Given the description of an element on the screen output the (x, y) to click on. 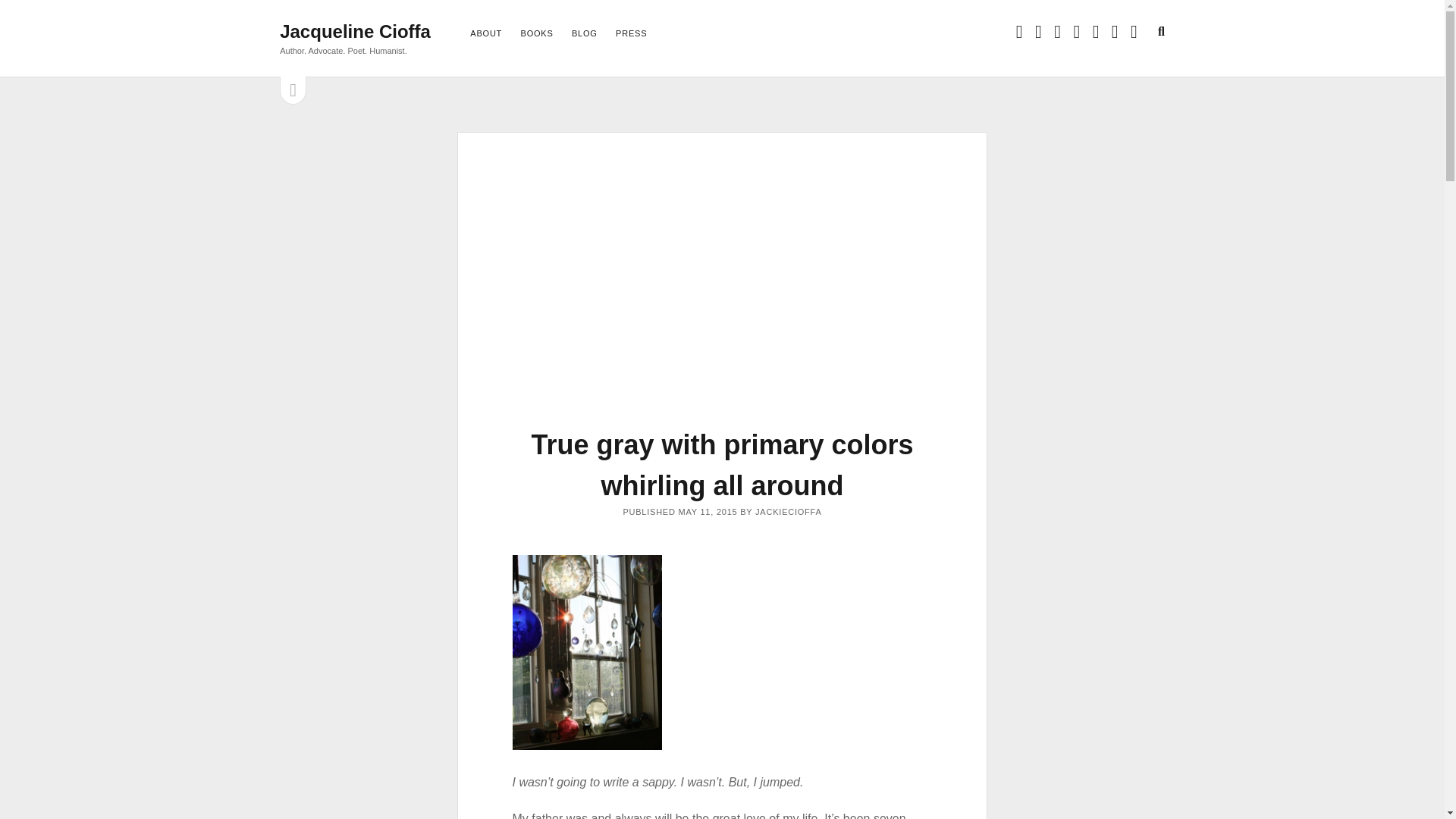
Jacqueline Cioffa (354, 31)
PRESS (630, 33)
ABOUT (486, 33)
BLOG (584, 33)
open sidebar (292, 90)
BOOKS (537, 33)
